Given the description of an element on the screen output the (x, y) to click on. 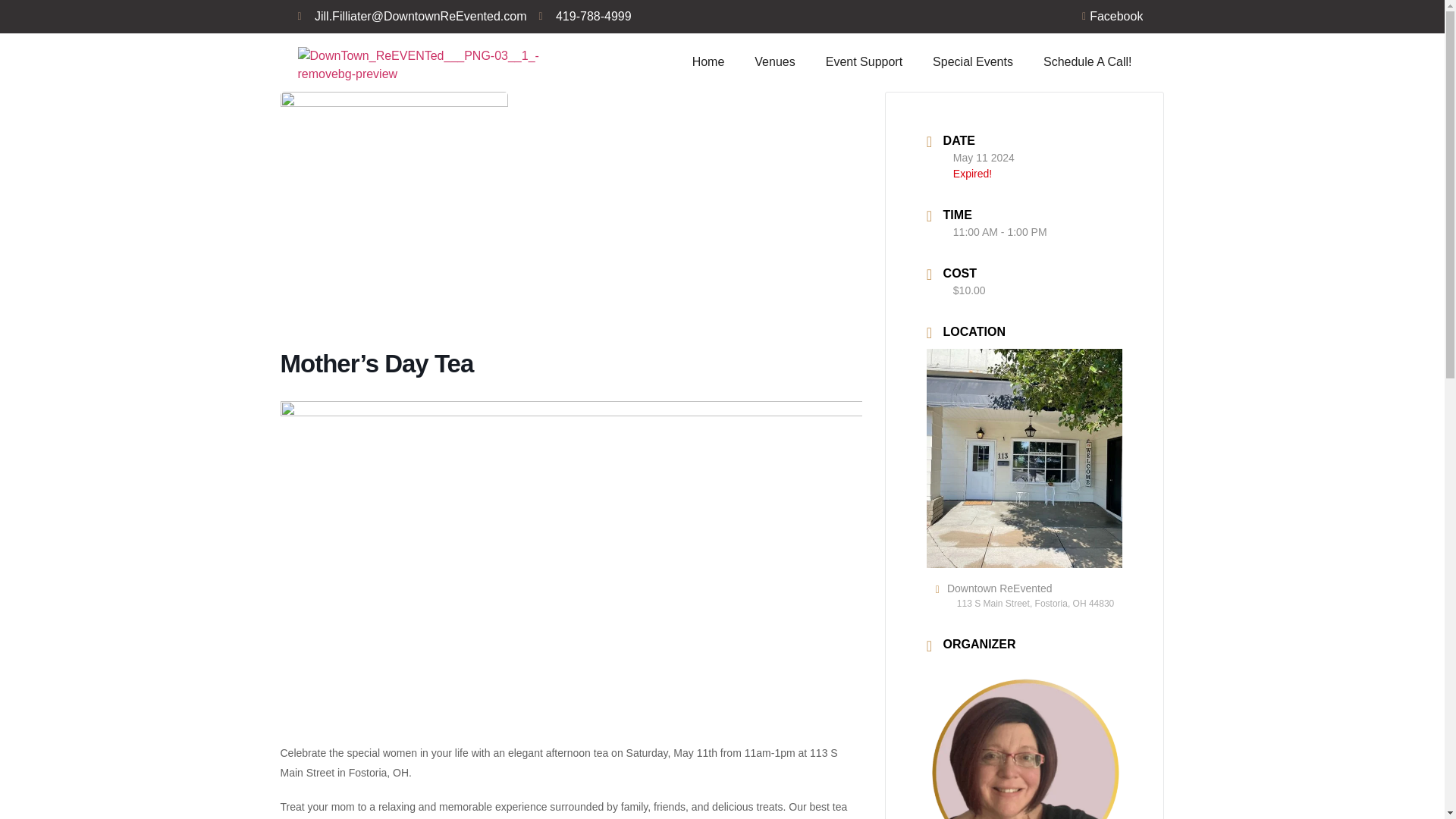
Special Events (972, 62)
Event Support (863, 62)
Facebook (1107, 16)
Venues (774, 62)
Schedule A Call! (1087, 62)
Home (708, 62)
